Given the description of an element on the screen output the (x, y) to click on. 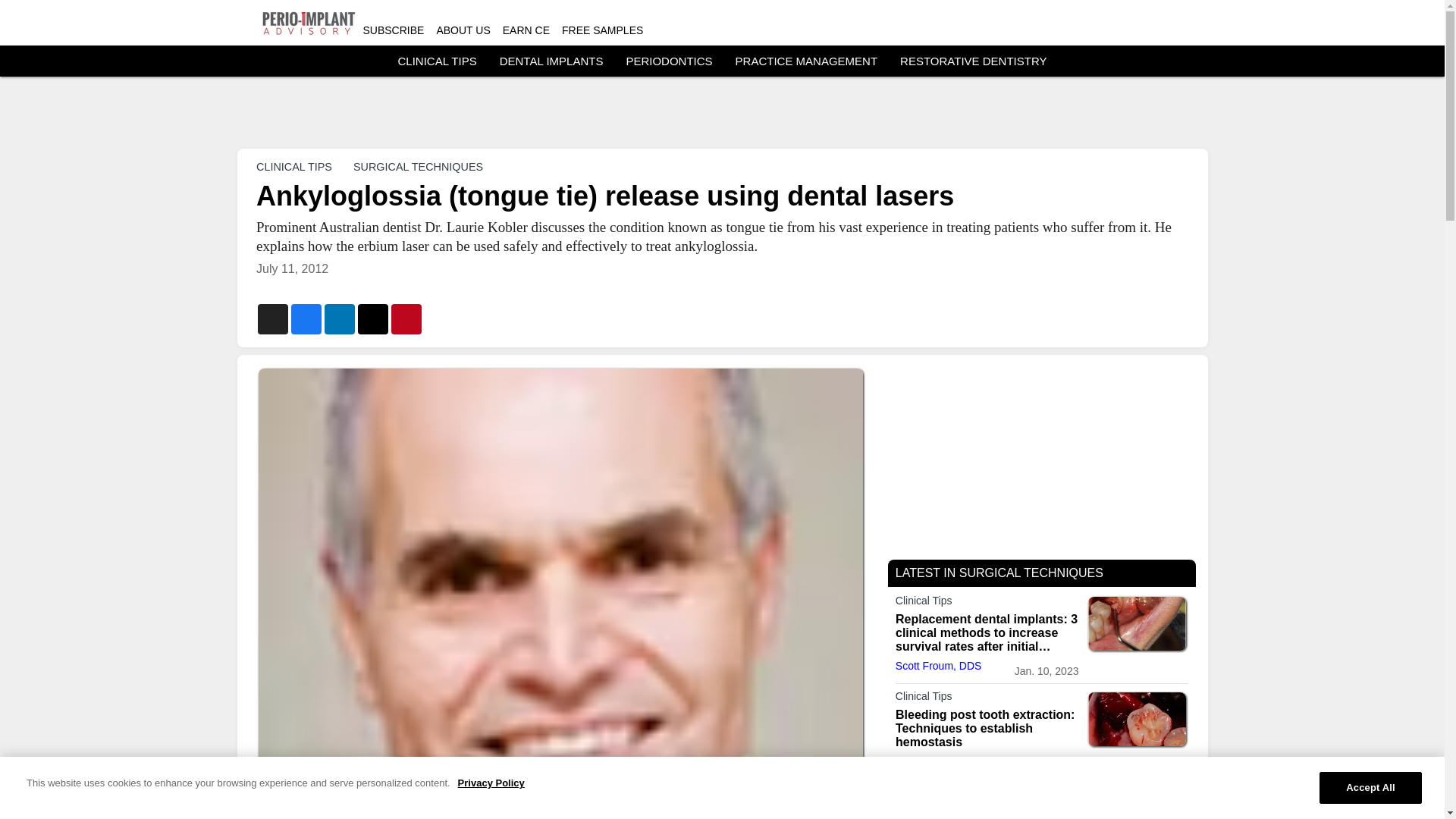
SURGICAL TECHNIQUES (416, 166)
Clinical Tips (986, 699)
Clinical Tips (986, 603)
RESTORATIVE DENTISTRY (972, 60)
Scott Froum, DDS (938, 665)
FREE SAMPLES (602, 30)
Surgical Techniques (986, 794)
EARN CE (526, 30)
